Given the description of an element on the screen output the (x, y) to click on. 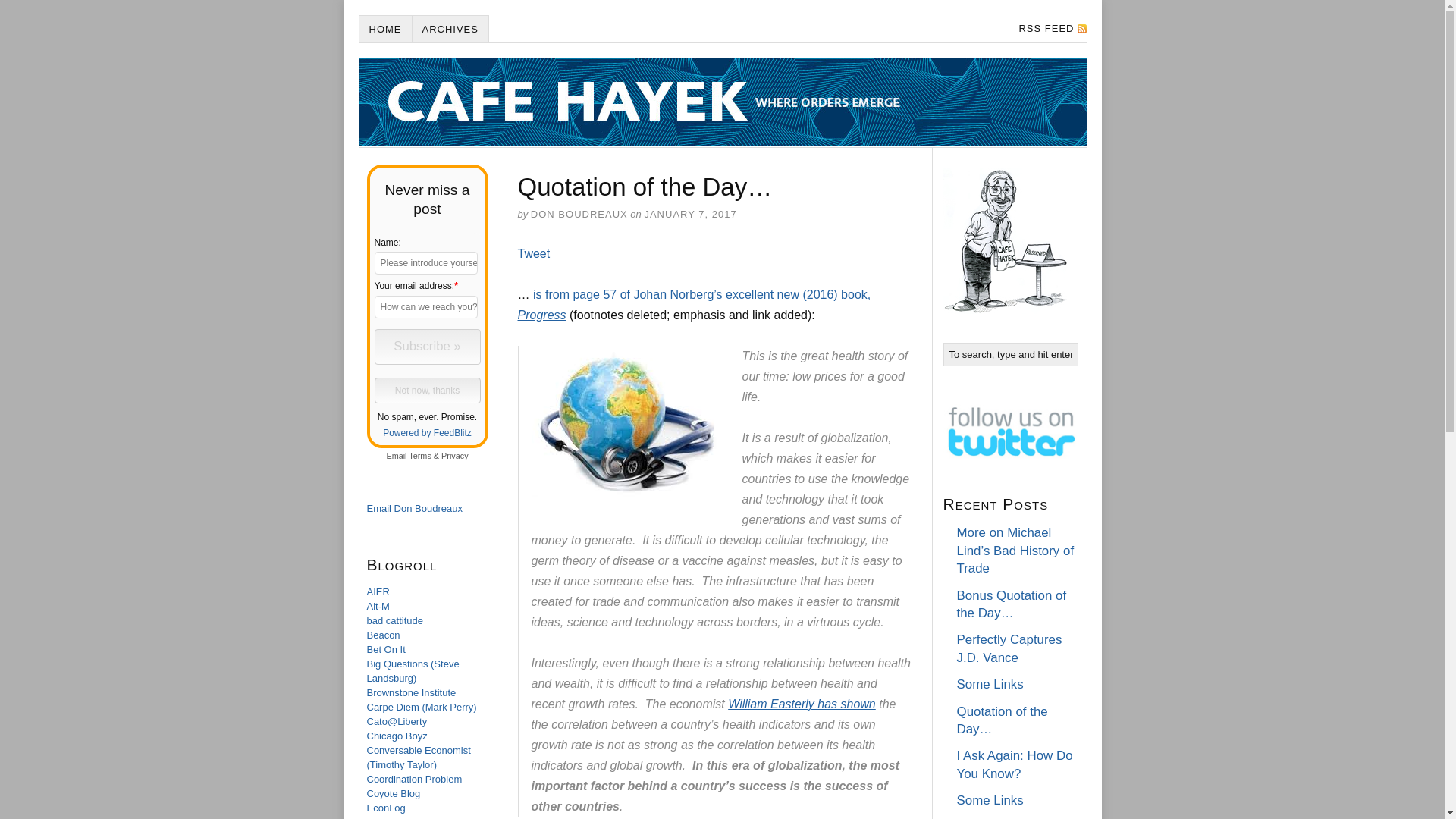
Terms (419, 455)
To search, type and hit enter (1010, 354)
2017-01-07 (689, 214)
Beacon (383, 634)
click to join (427, 346)
RSS FEED (1047, 28)
Economic Forces (404, 817)
Email Don Boudreaux (414, 508)
Coordination Problem (414, 778)
ARCHIVES (450, 29)
Powered by FeedBlitz (426, 432)
Brownstone Institute (411, 692)
AIER (378, 591)
Bet On It (386, 649)
Alt-M (378, 605)
